Given the description of an element on the screen output the (x, y) to click on. 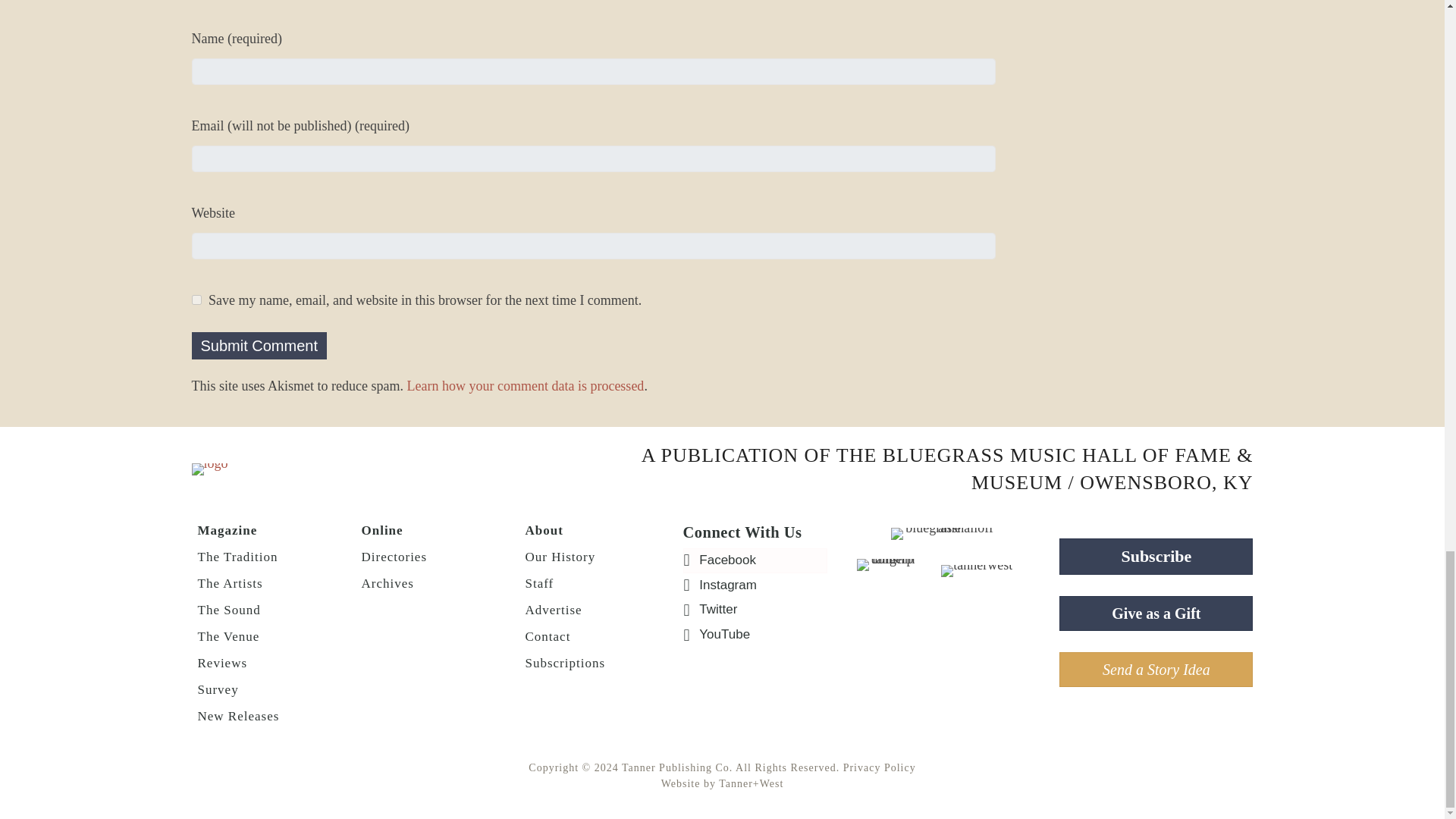
yes (195, 299)
tannerwest (975, 571)
bluegrasshalloffame (943, 533)
tannerpublishing (886, 564)
logo (208, 469)
Submit Comment (258, 345)
